Given the description of an element on the screen output the (x, y) to click on. 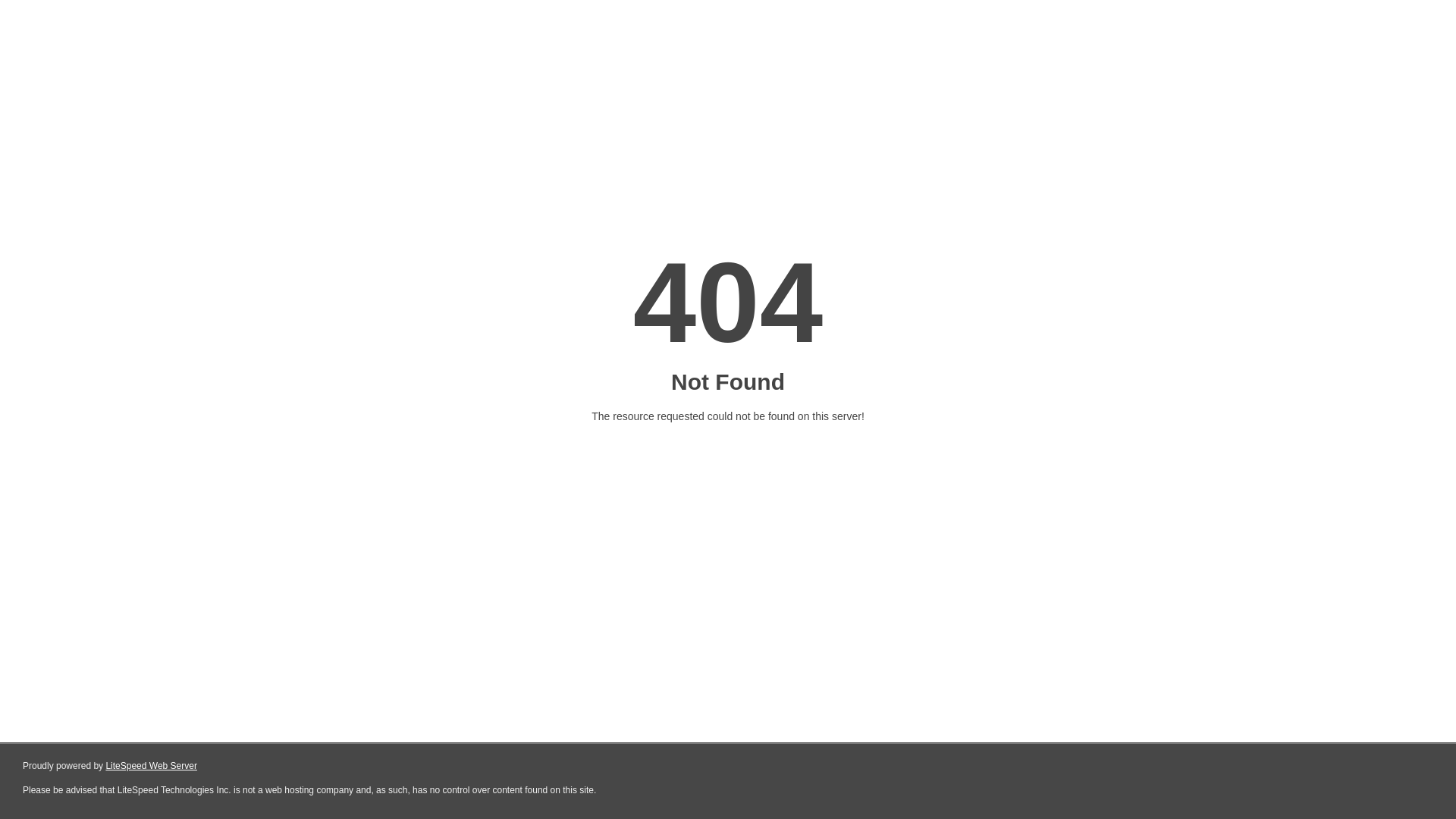
LiteSpeed Web Server Element type: text (151, 765)
